Given the description of an element on the screen output the (x, y) to click on. 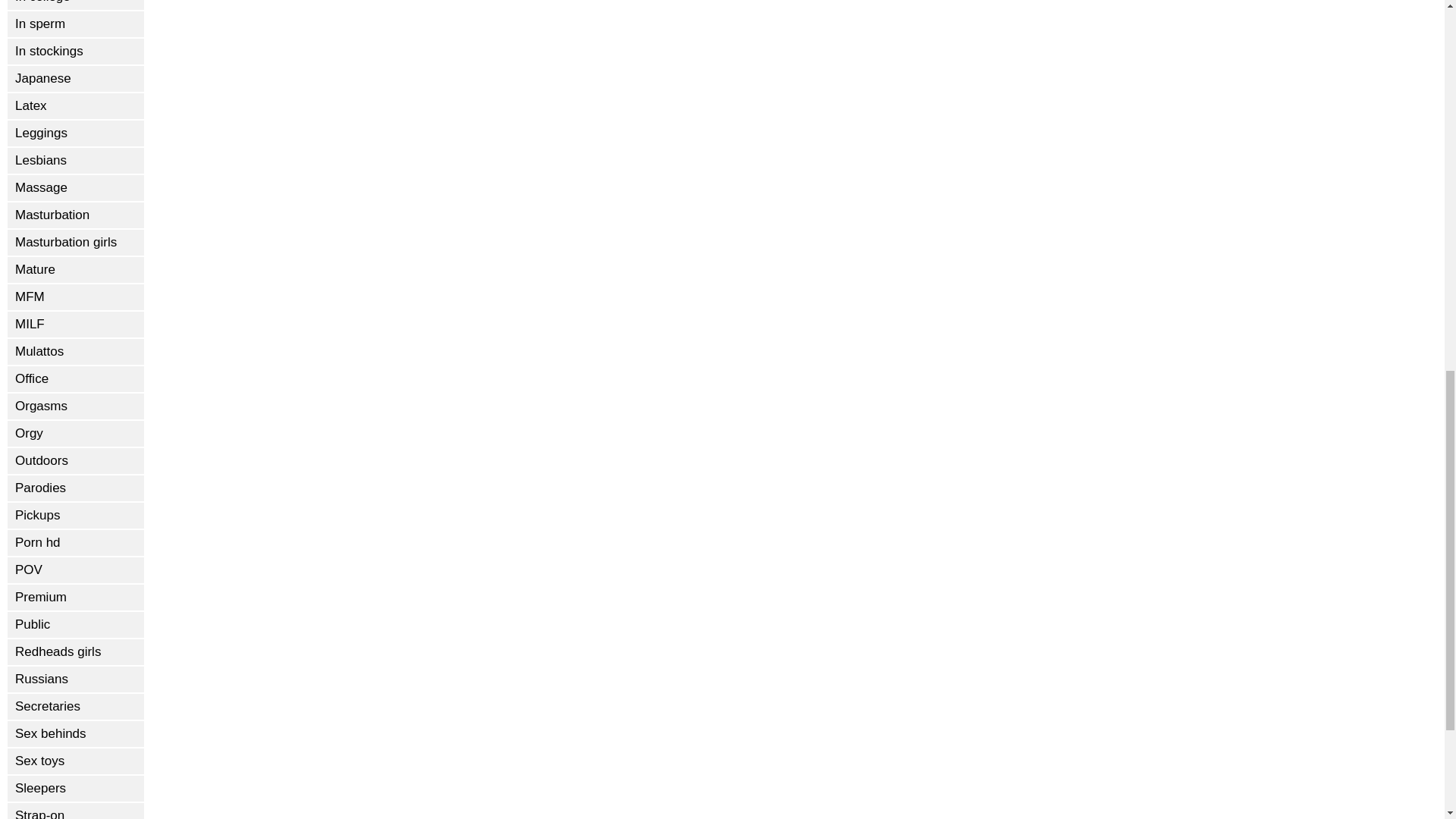
In college (75, 4)
In sperm (75, 23)
In stockings (75, 51)
Japanese (75, 78)
